Given the description of an element on the screen output the (x, y) to click on. 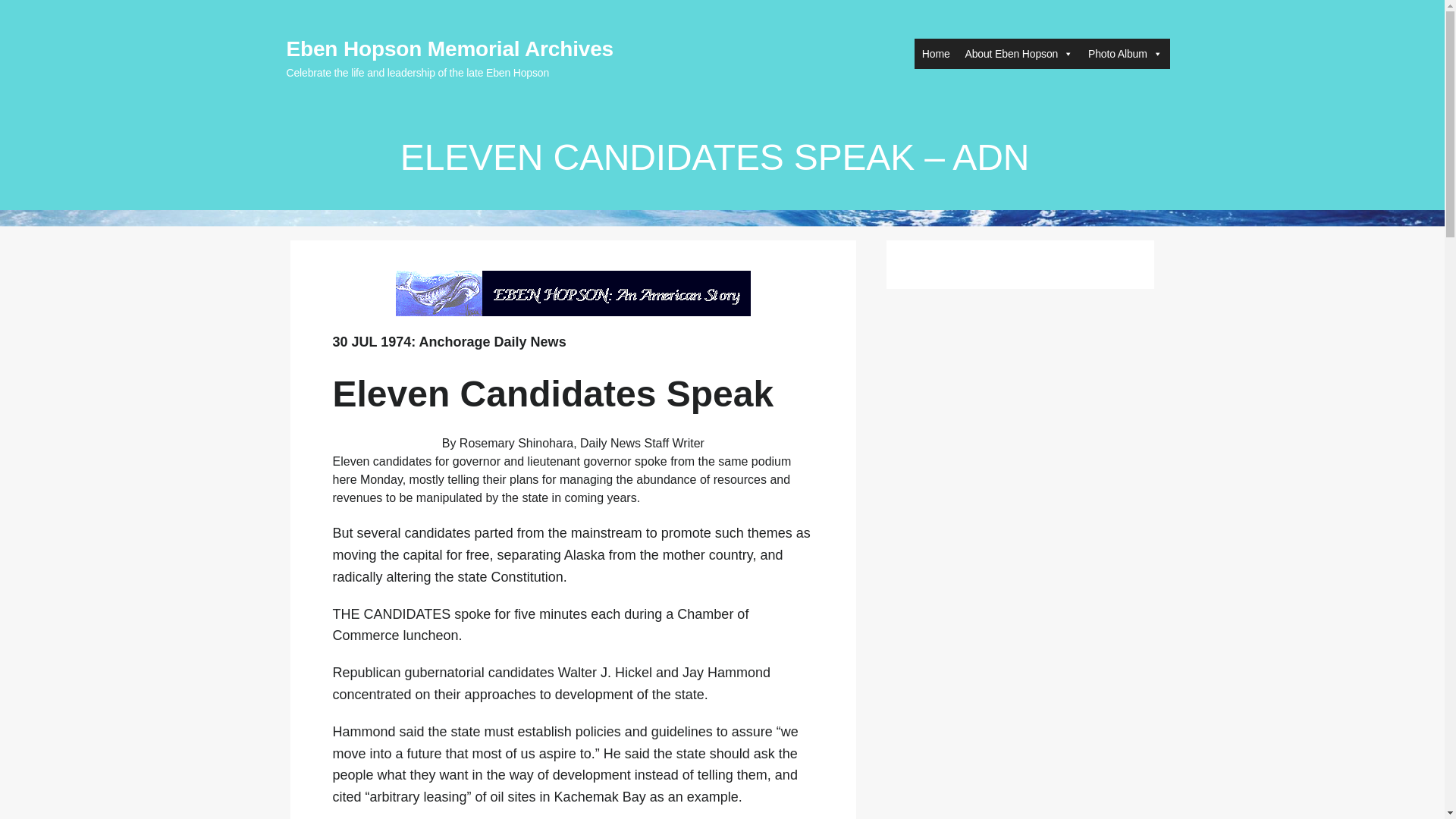
About Eben Hopson (1019, 53)
Home (936, 53)
Photo Album (1124, 53)
Eben Hopson Memorial Archives (450, 48)
